Given the description of an element on the screen output the (x, y) to click on. 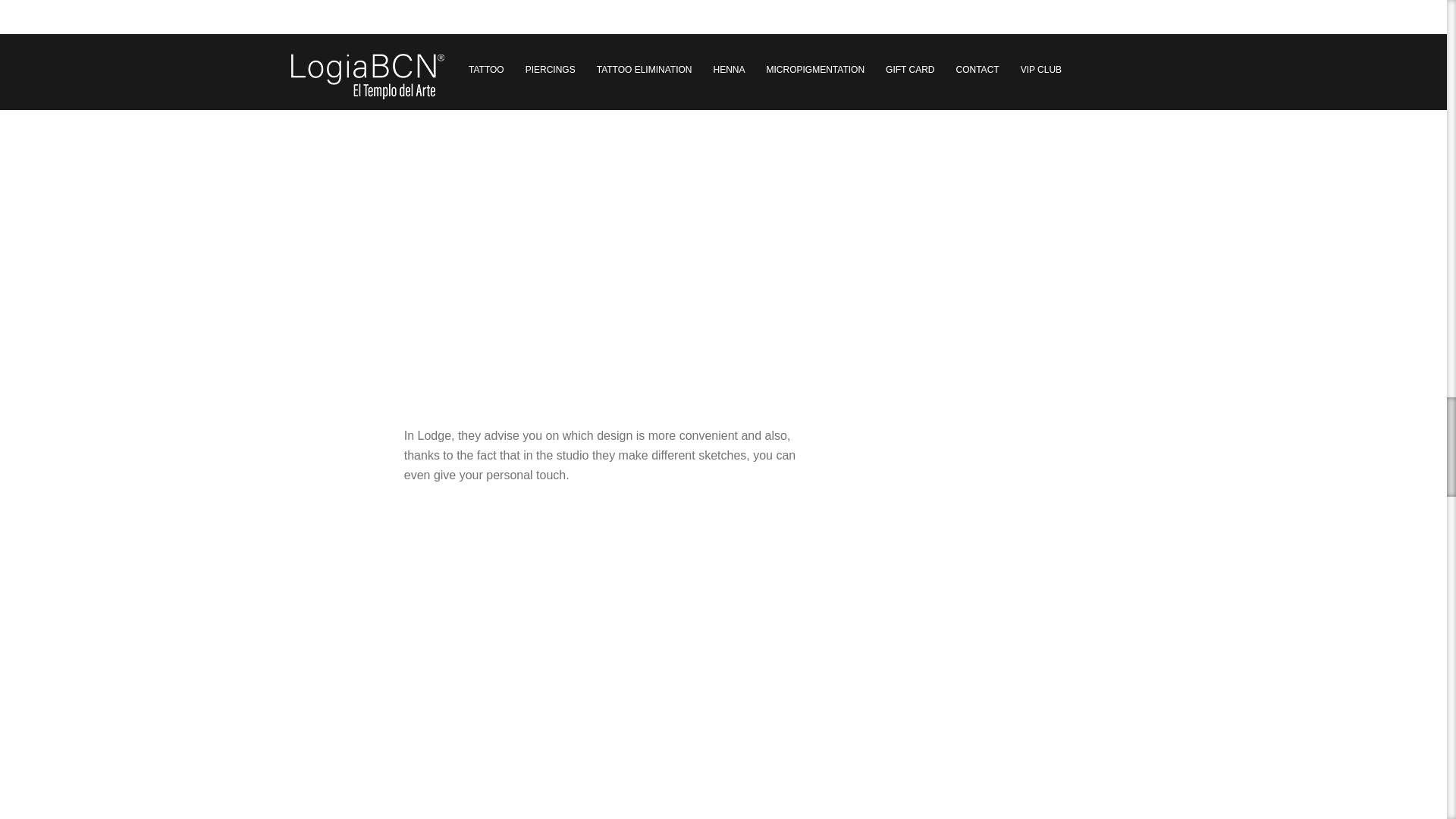
tattoo lettering (612, 660)
